Given the description of an element on the screen output the (x, y) to click on. 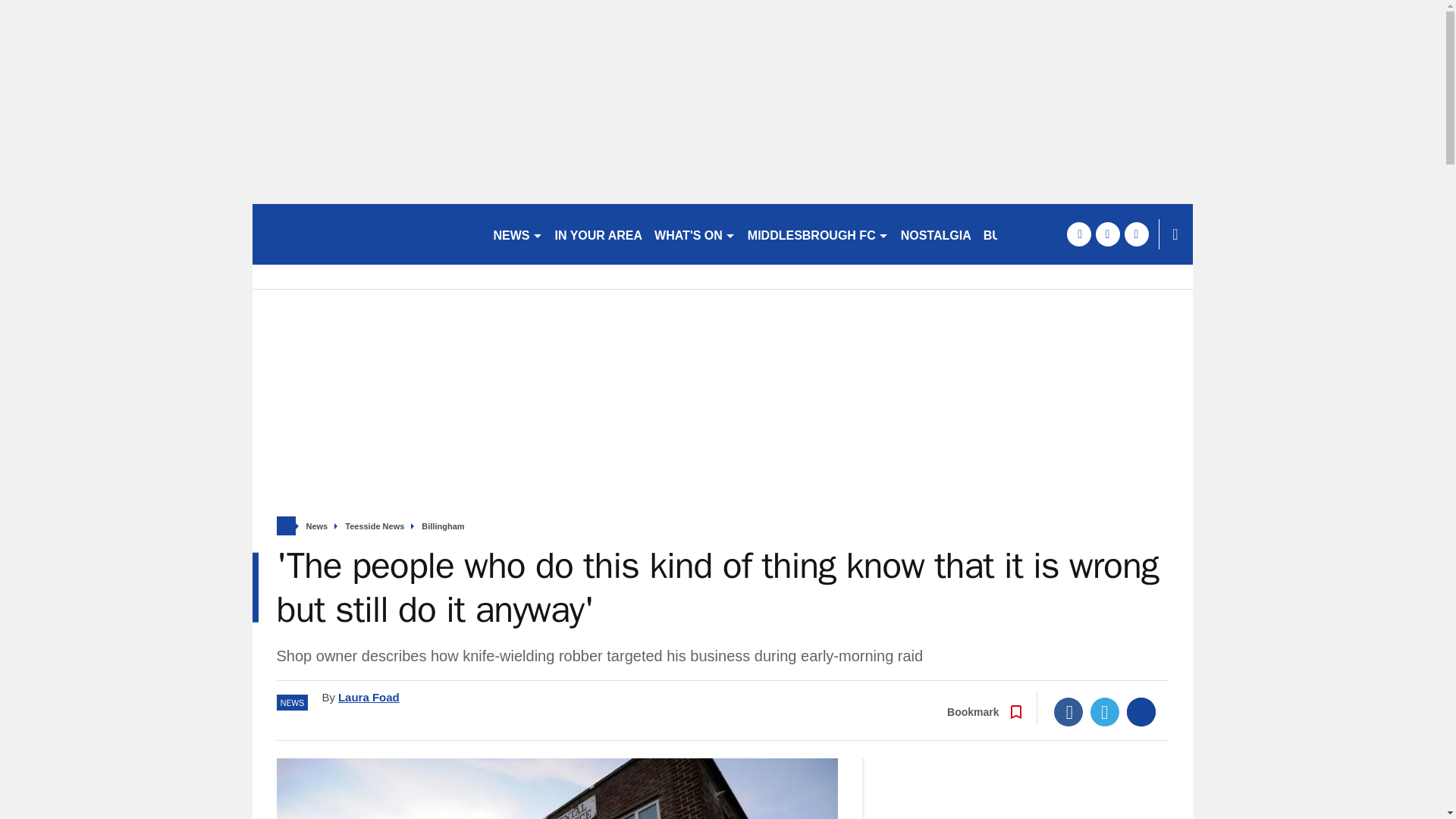
MIDDLESBROUGH FC (818, 233)
IN YOUR AREA (598, 233)
facebook (1077, 233)
Twitter (1104, 711)
NOSTALGIA (935, 233)
twitter (1106, 233)
NEWS (517, 233)
WHAT'S ON (694, 233)
BUSINESS (1013, 233)
Facebook (1068, 711)
instagram (1136, 233)
gazettelive (365, 233)
